Given the description of an element on the screen output the (x, y) to click on. 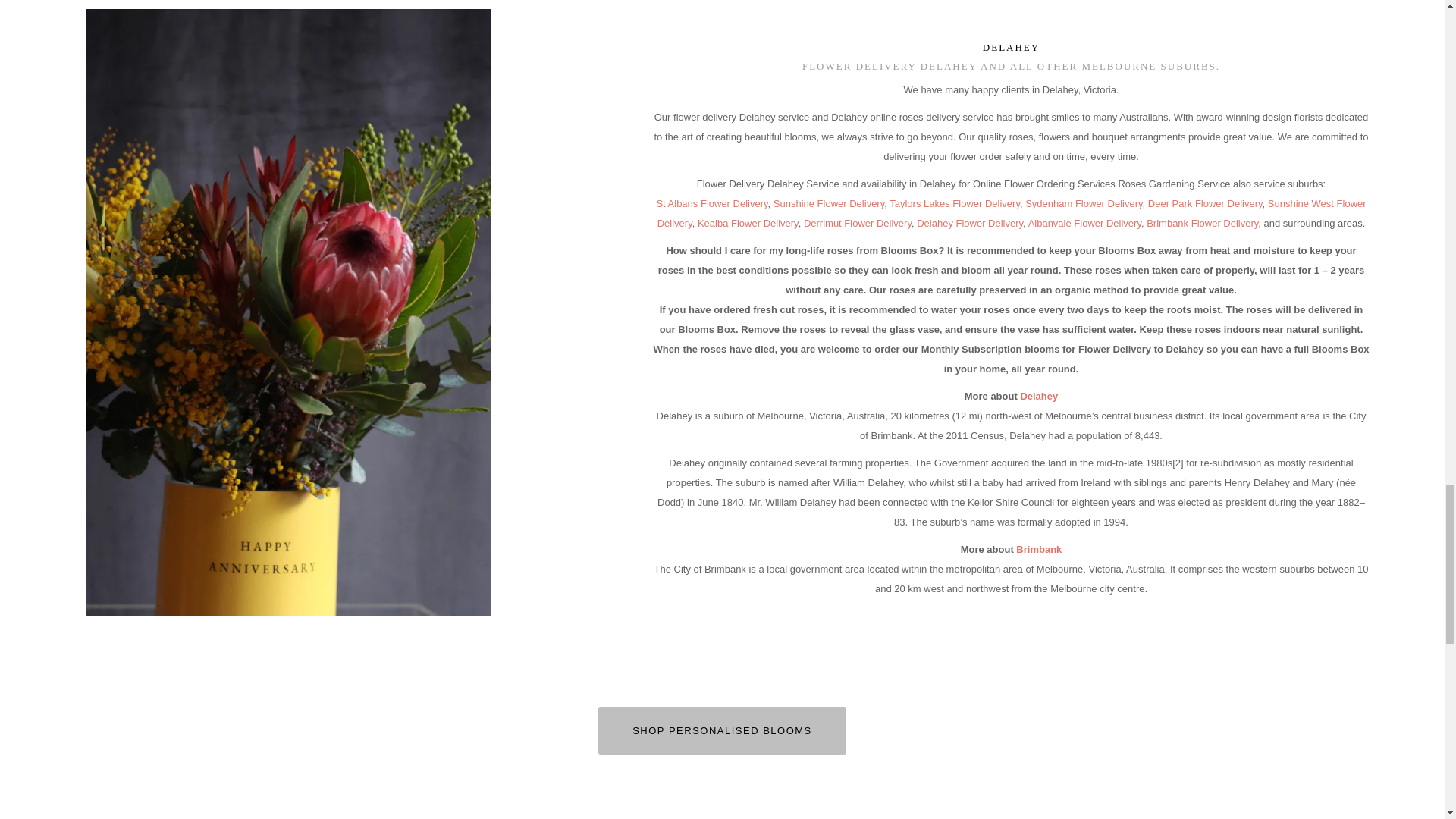
Derrimut Flower Delivery (857, 223)
Delahey (1039, 396)
Albanvale Flower Delivery (1084, 223)
Delahey (1010, 47)
Brimbank (1038, 549)
Deer Park Flower Delivery (1205, 203)
Sunshine West Flower Delivery (1012, 213)
DELAHEY (1010, 47)
St Albans Flower Delivery (711, 203)
Brimbank Flower Delivery (1202, 223)
Taylors Lakes Flower Delivery (954, 203)
Sunshine Flower Delivery (828, 203)
Kealba Flower Delivery (747, 223)
Delahey Flower Delivery (970, 223)
Sydenham Flower Delivery (1083, 203)
